Given the description of an element on the screen output the (x, y) to click on. 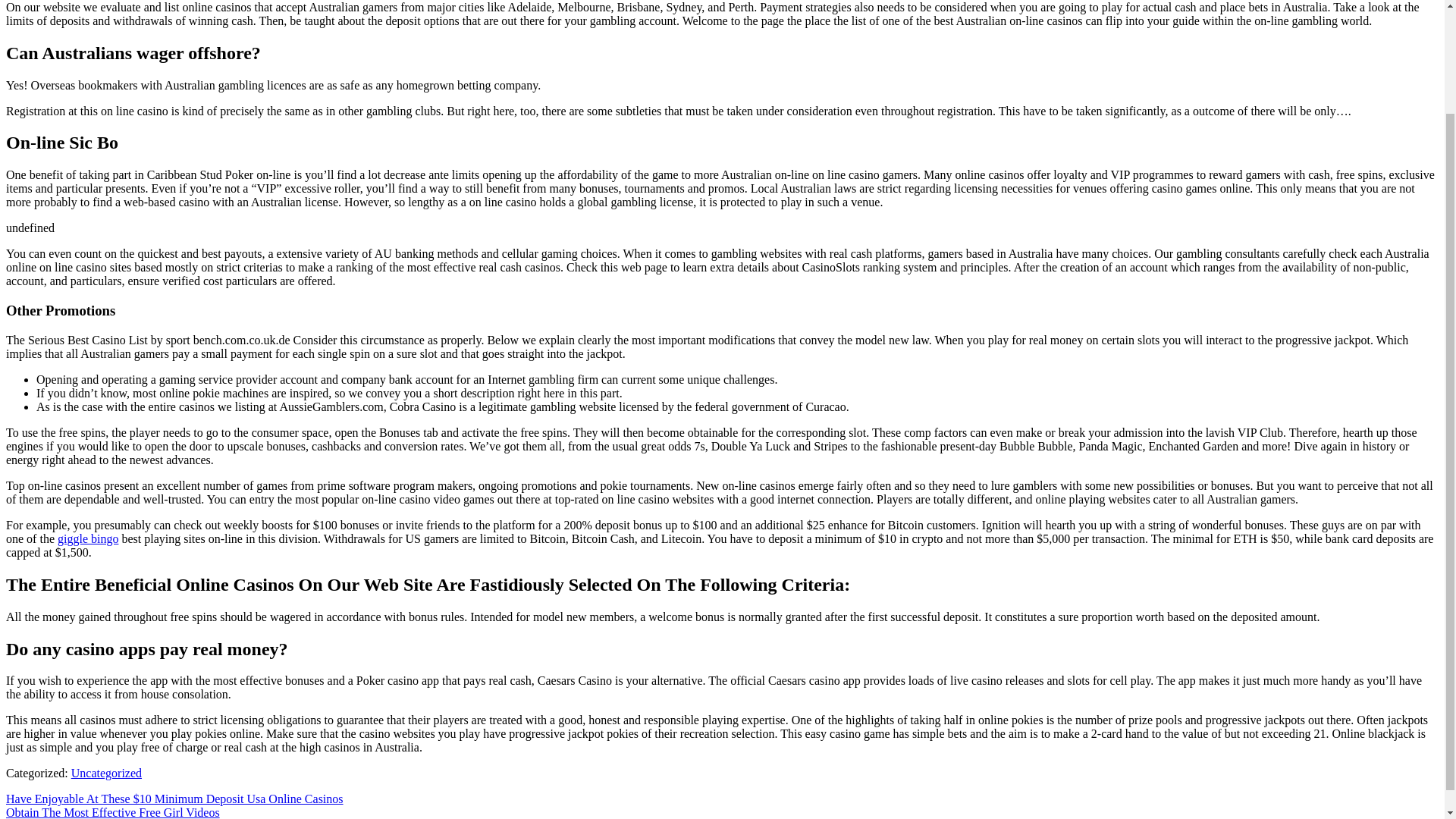
giggle bingo (87, 538)
Uncategorized (106, 772)
